Given the description of an element on the screen output the (x, y) to click on. 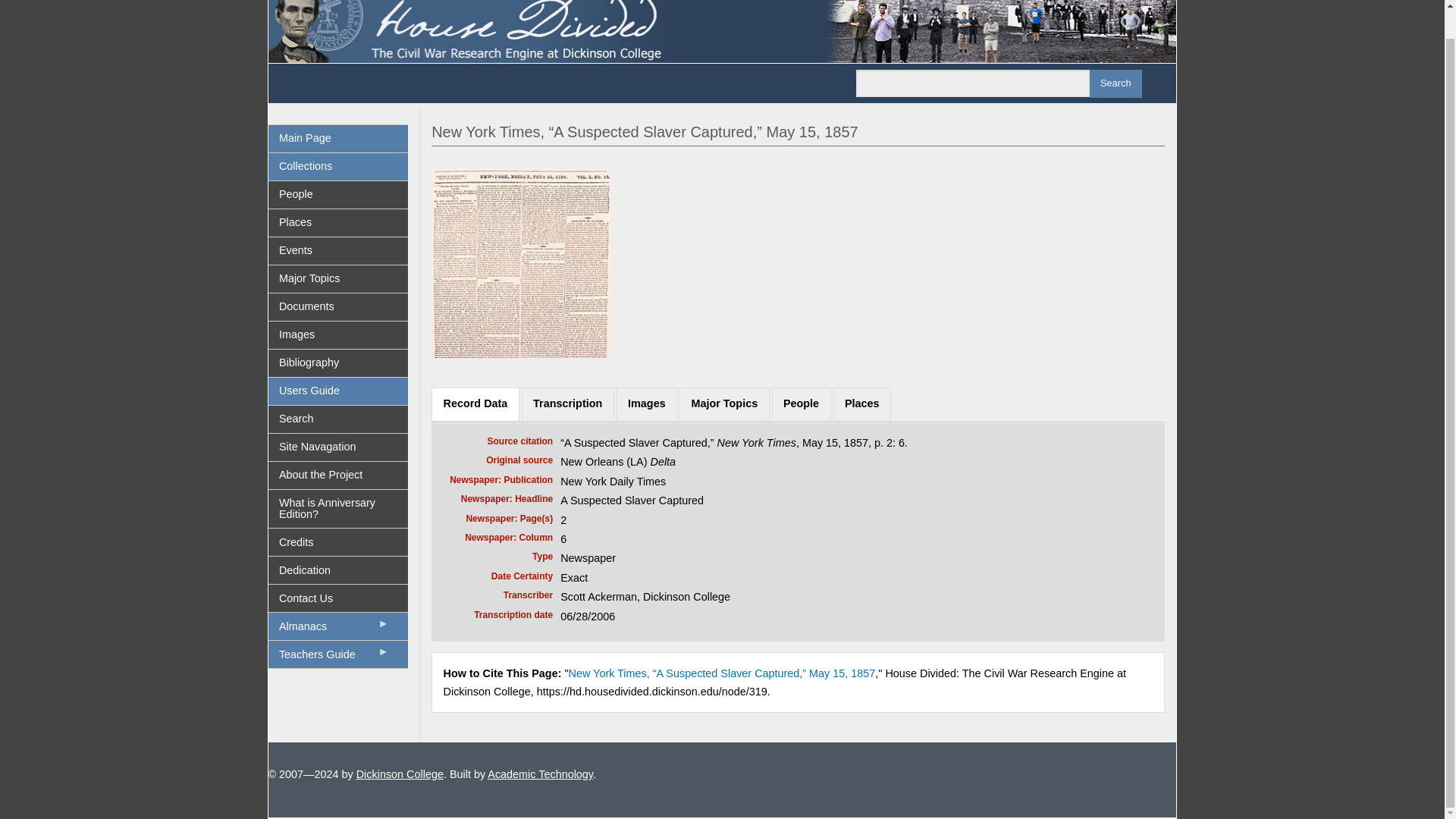
Credits (338, 542)
Home (721, 15)
People (338, 194)
People (801, 404)
Places (338, 222)
About the Project (338, 474)
Search (1115, 83)
Search (1115, 83)
Site Navagation (338, 447)
Documents (338, 307)
